Given the description of an element on the screen output the (x, y) to click on. 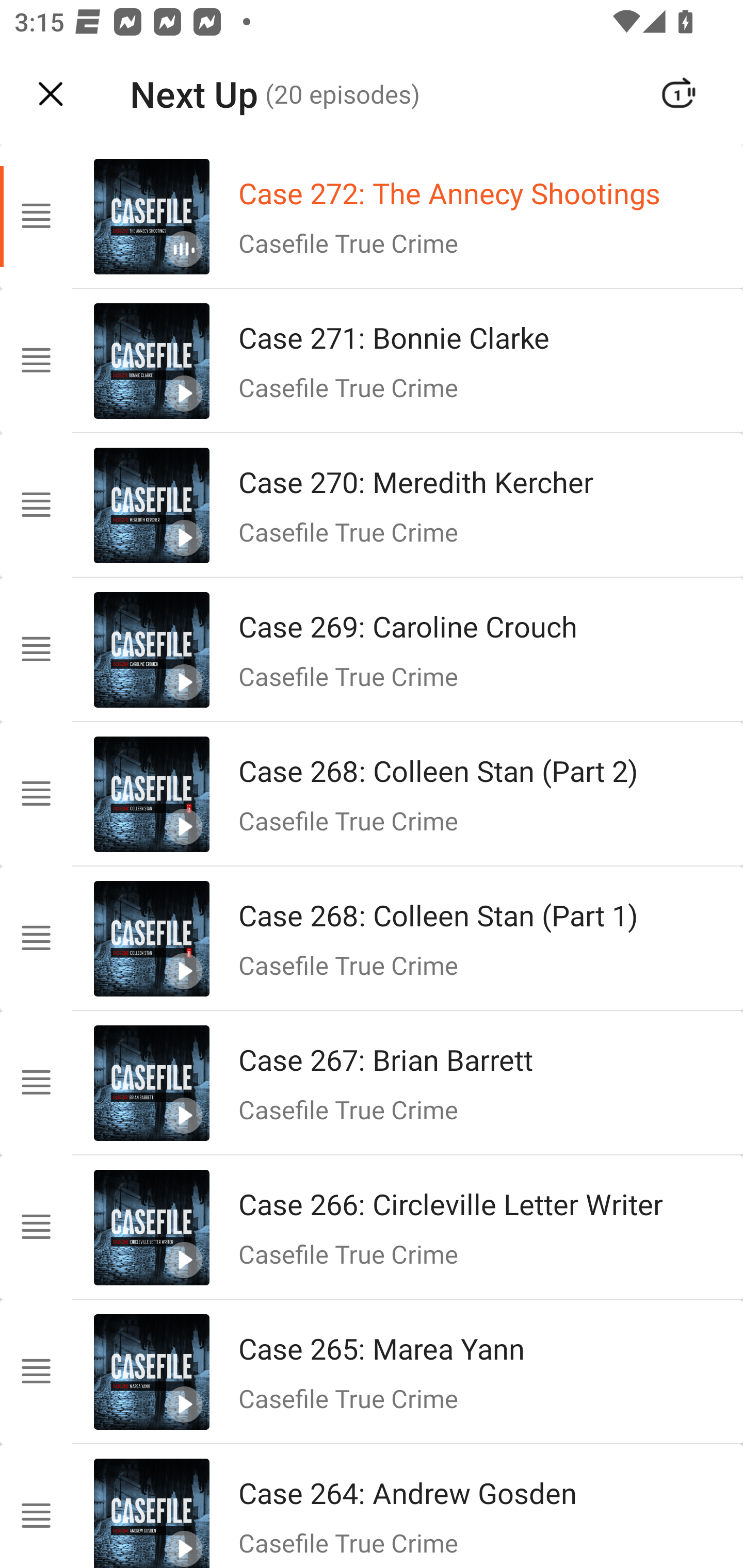
Navigate up (50, 93)
